Given the description of an element on the screen output the (x, y) to click on. 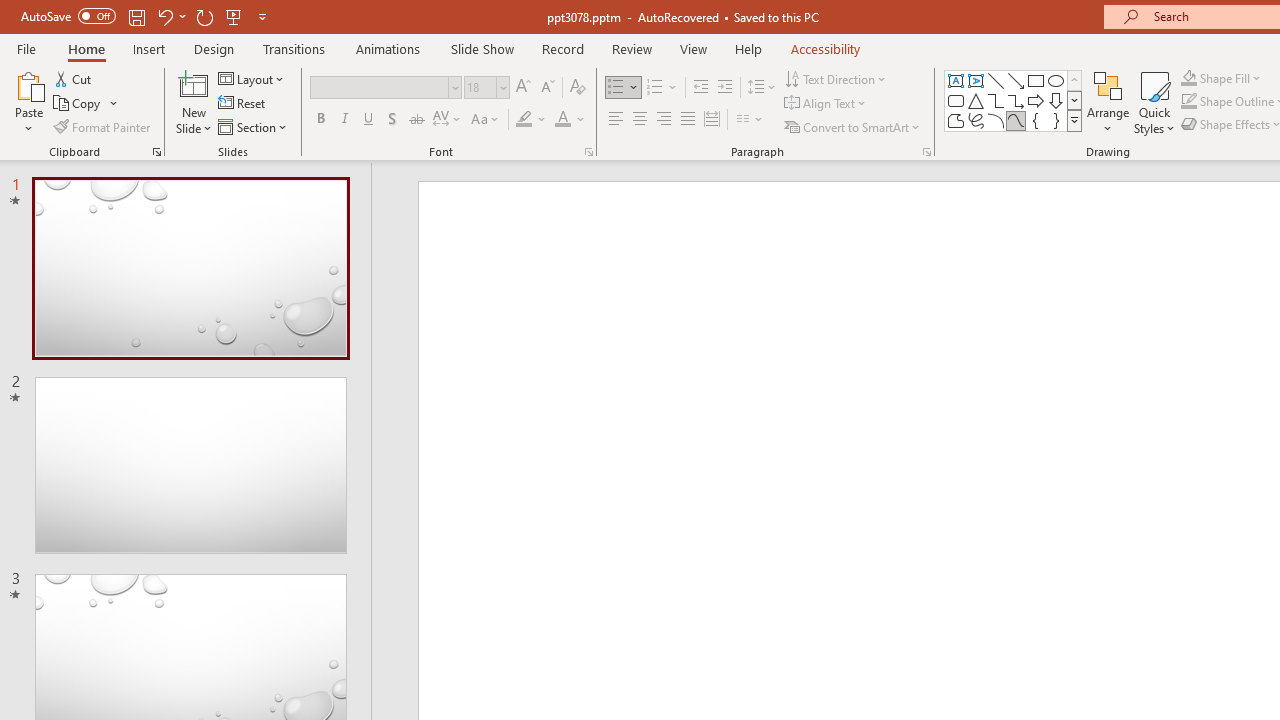
Quick Styles (1154, 102)
Arrow: Right (1035, 100)
Bullets (616, 87)
New Slide (193, 84)
Connector: Elbow (995, 100)
Columns (750, 119)
Shapes (1074, 120)
Format Painter (103, 126)
Font... (588, 151)
Freeform: Shape (955, 120)
Section (254, 126)
Line Arrow (1016, 80)
